Given the description of an element on the screen output the (x, y) to click on. 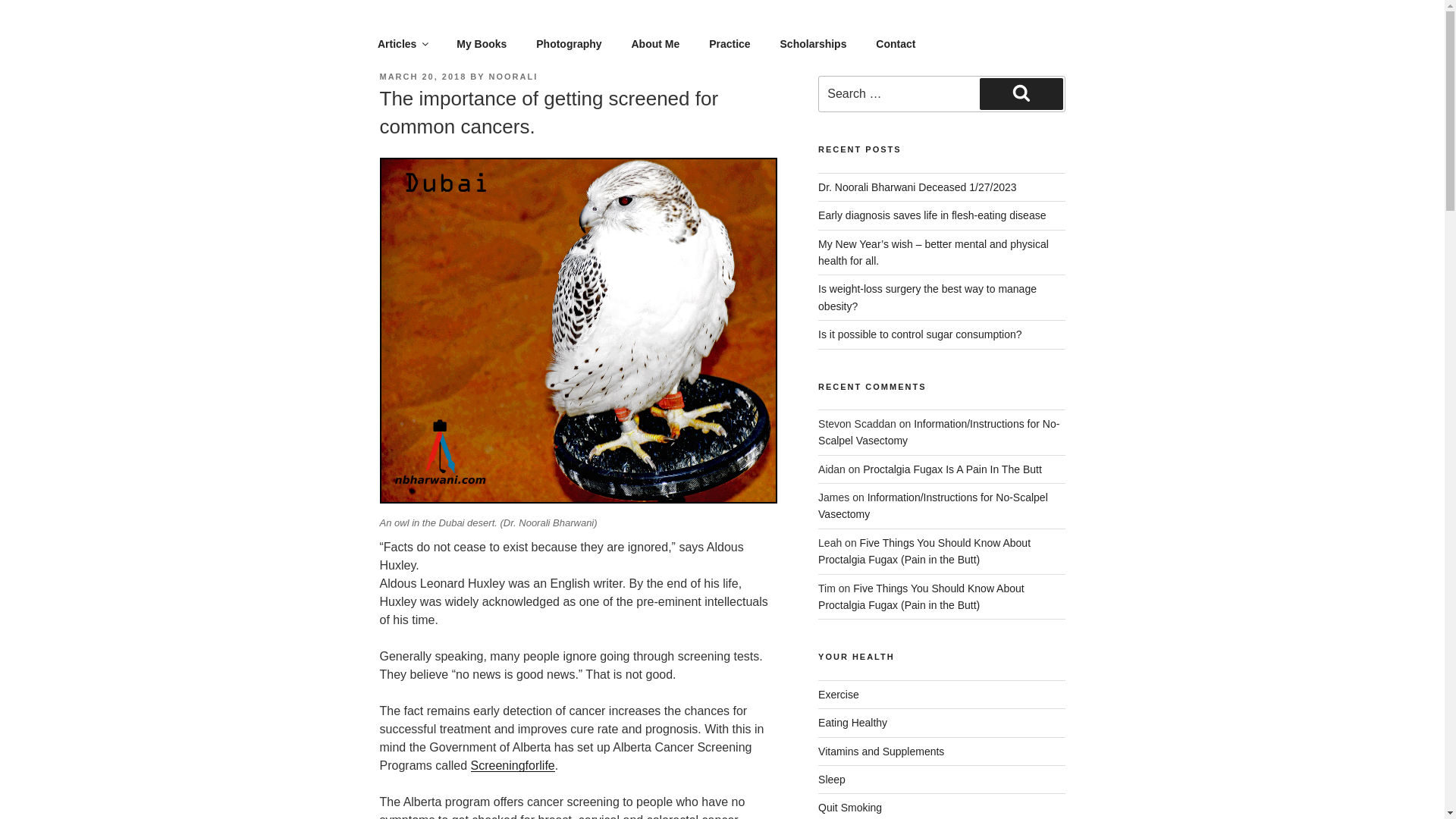
Scholarships (813, 44)
NOORALI (513, 76)
My Books (481, 44)
Screeningforlife (512, 765)
Contact (895, 44)
DR. NOORALI BHARWANI (569, 34)
About Me (655, 44)
Photography (568, 44)
Practice (728, 44)
MARCH 20, 2018 (421, 76)
Articles (401, 44)
